Given the description of an element on the screen output the (x, y) to click on. 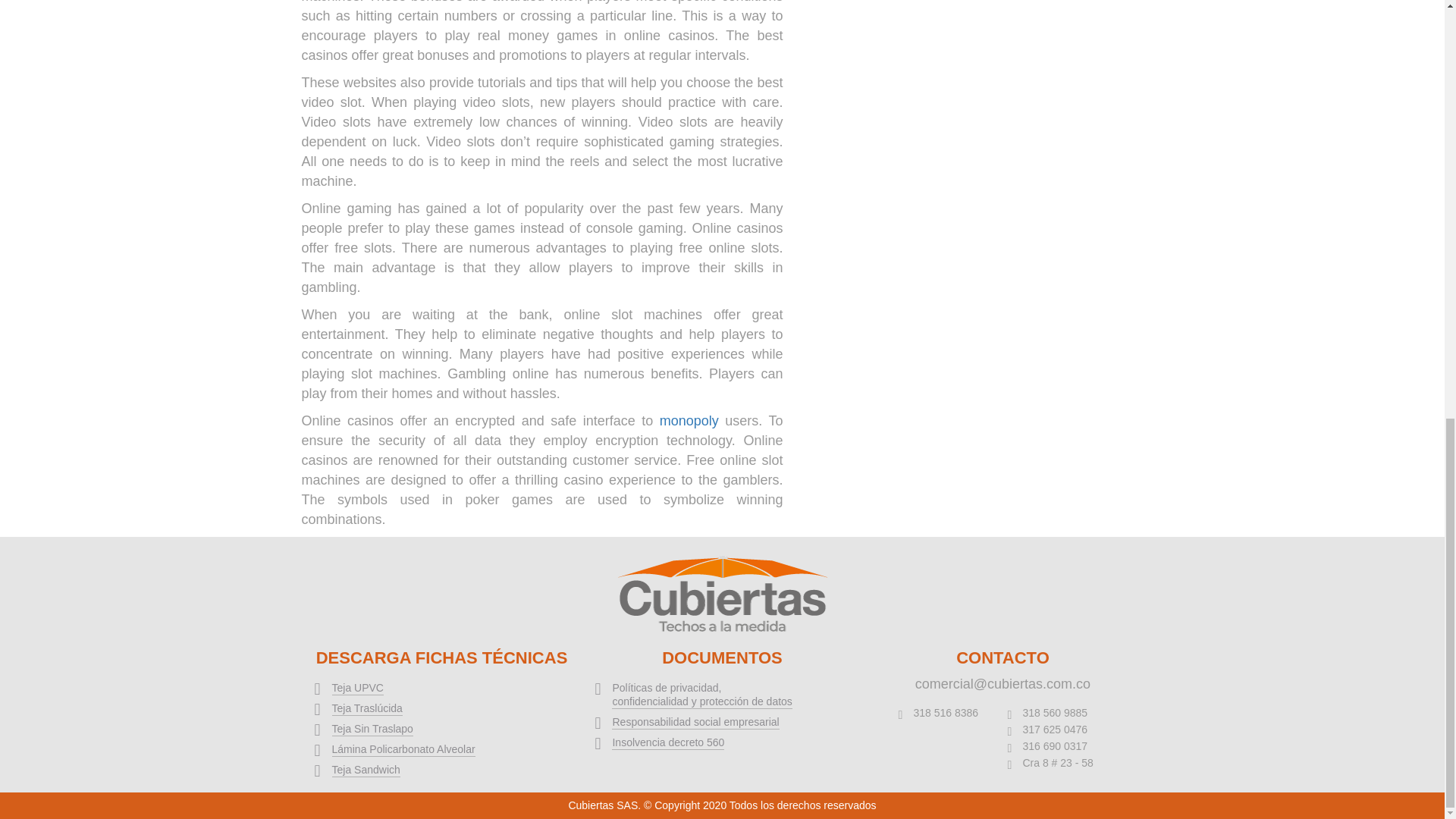
monopoly (689, 420)
Teja Sandwich (365, 769)
Insolvencia decreto 560 (667, 742)
Responsabilidad social empresarial (694, 721)
Teja Sin Traslapo (372, 728)
Teja UPVC (357, 687)
